Given the description of an element on the screen output the (x, y) to click on. 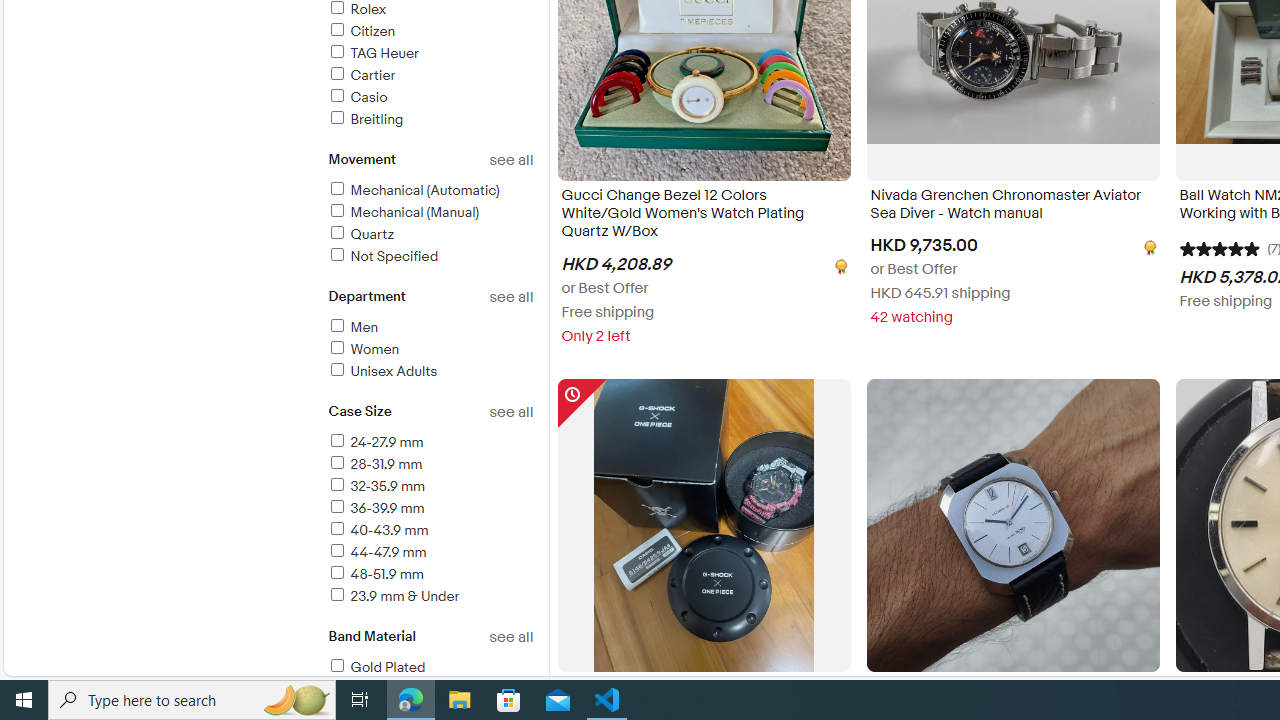
Men (430, 327)
48-51.9 mm (430, 574)
Women (362, 349)
Not Specified (382, 255)
40-43.9 mm (377, 530)
TAG Heuer (372, 52)
48-51.9 mm (374, 574)
23.9 mm & Under (430, 597)
See all band material refinements (510, 637)
